Given the description of an element on the screen output the (x, y) to click on. 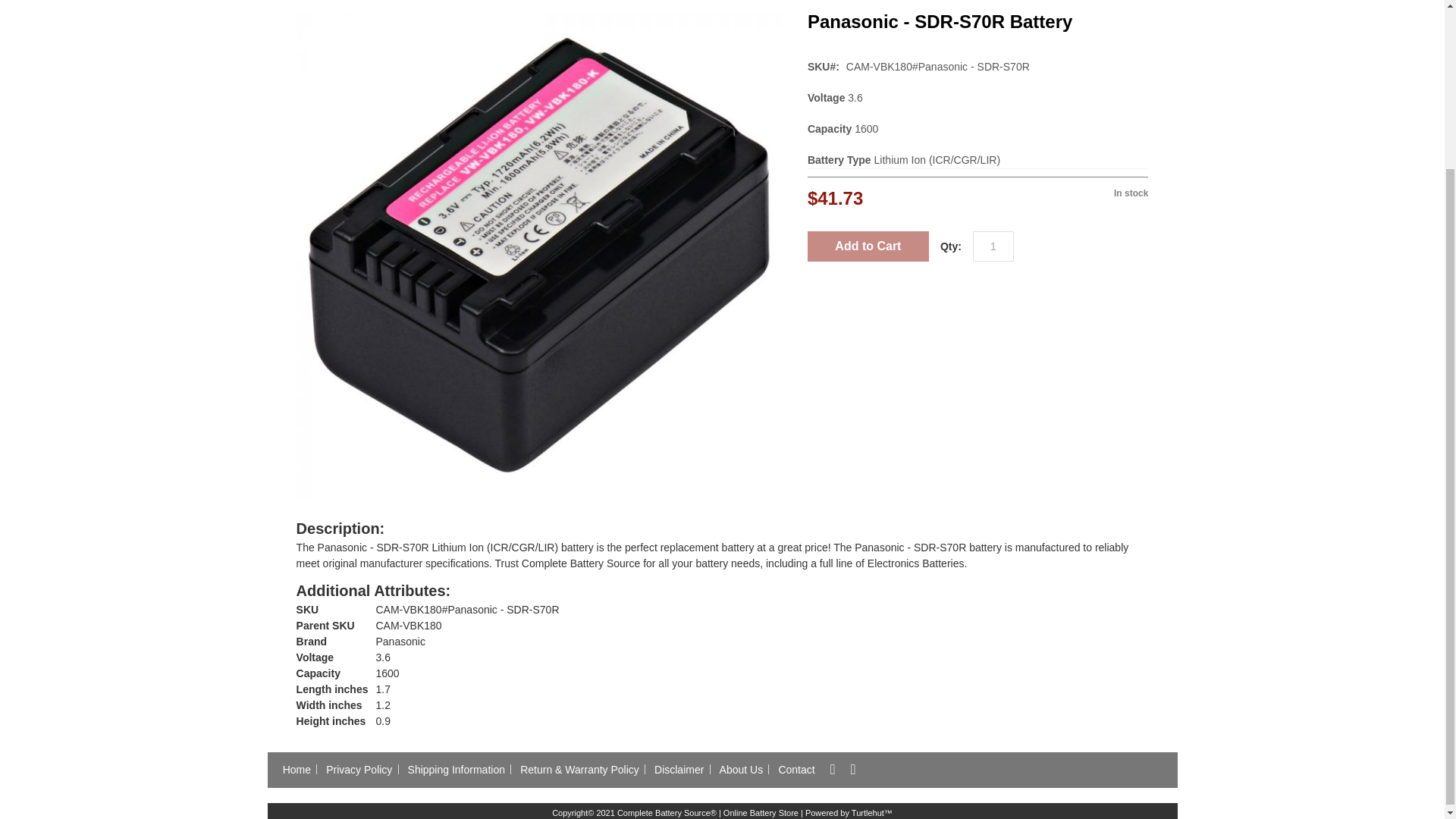
Shipping Information (456, 768)
Return and Warranty Policy (579, 768)
Privacy Policy (358, 768)
1 (992, 245)
About Us (740, 768)
Contact Us (796, 768)
Home Page (296, 768)
Add to Cart (868, 245)
Qty (992, 245)
Availability (1063, 188)
